Given the description of an element on the screen output the (x, y) to click on. 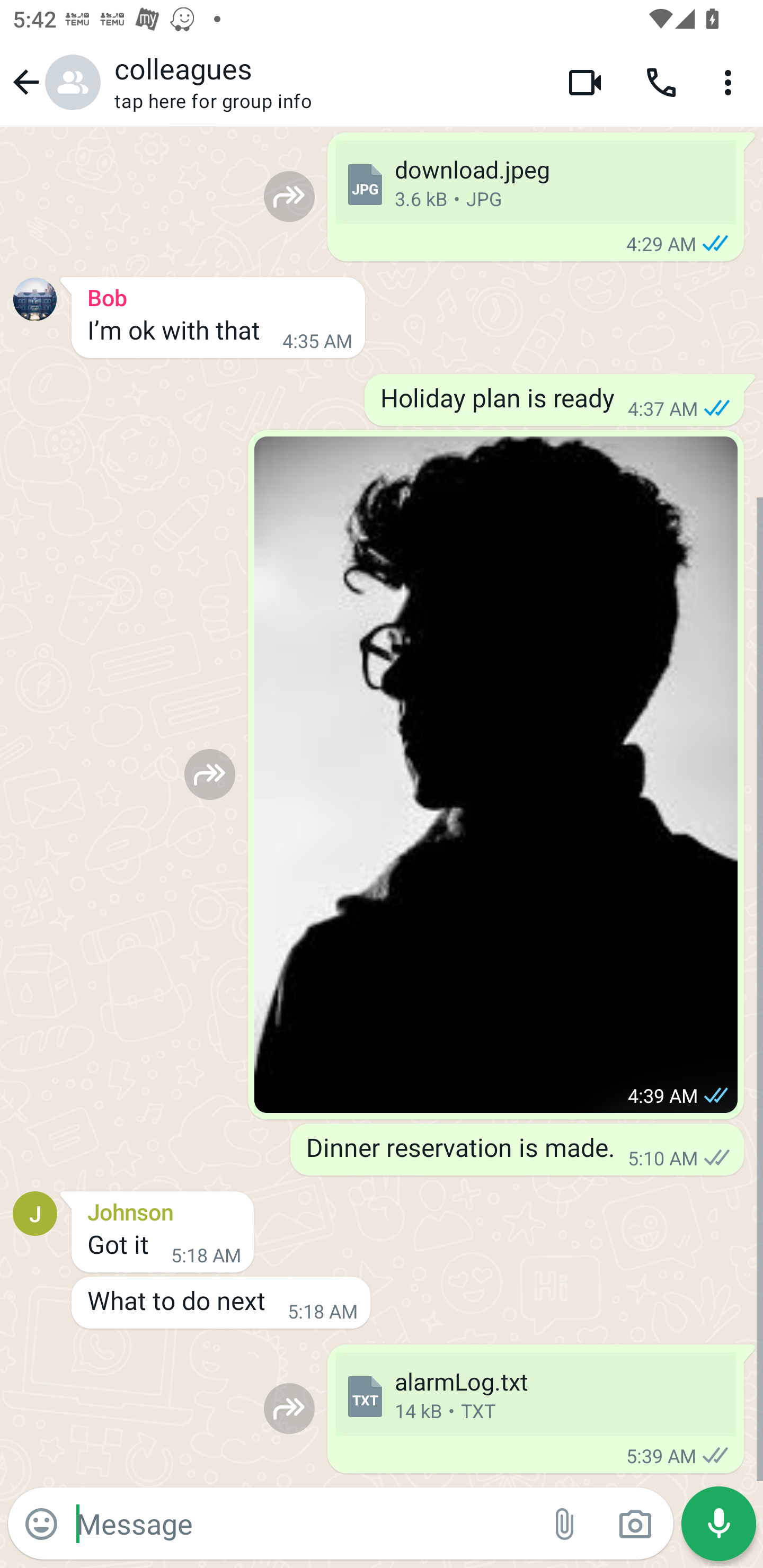
colleagues tap here for group info (327, 82)
Navigate up (54, 82)
Video call (585, 81)
Voice call (661, 81)
More options (731, 81)
download.jpeg 3.6 kB • JPG (535, 181)
Forward to… (288, 196)
Profile picture for Bob (34, 299)
Bob (217, 294)
View photo (495, 774)
Forward to… (209, 774)
Profile picture for Johnson J (34, 1213)
Johnson (162, 1208)
alarmLog.txt 14 kB • TXT (535, 1393)
Forward to… (288, 1408)
Emoji (41, 1523)
Attach (565, 1523)
Camera (634, 1523)
Message (303, 1523)
